Given the description of an element on the screen output the (x, y) to click on. 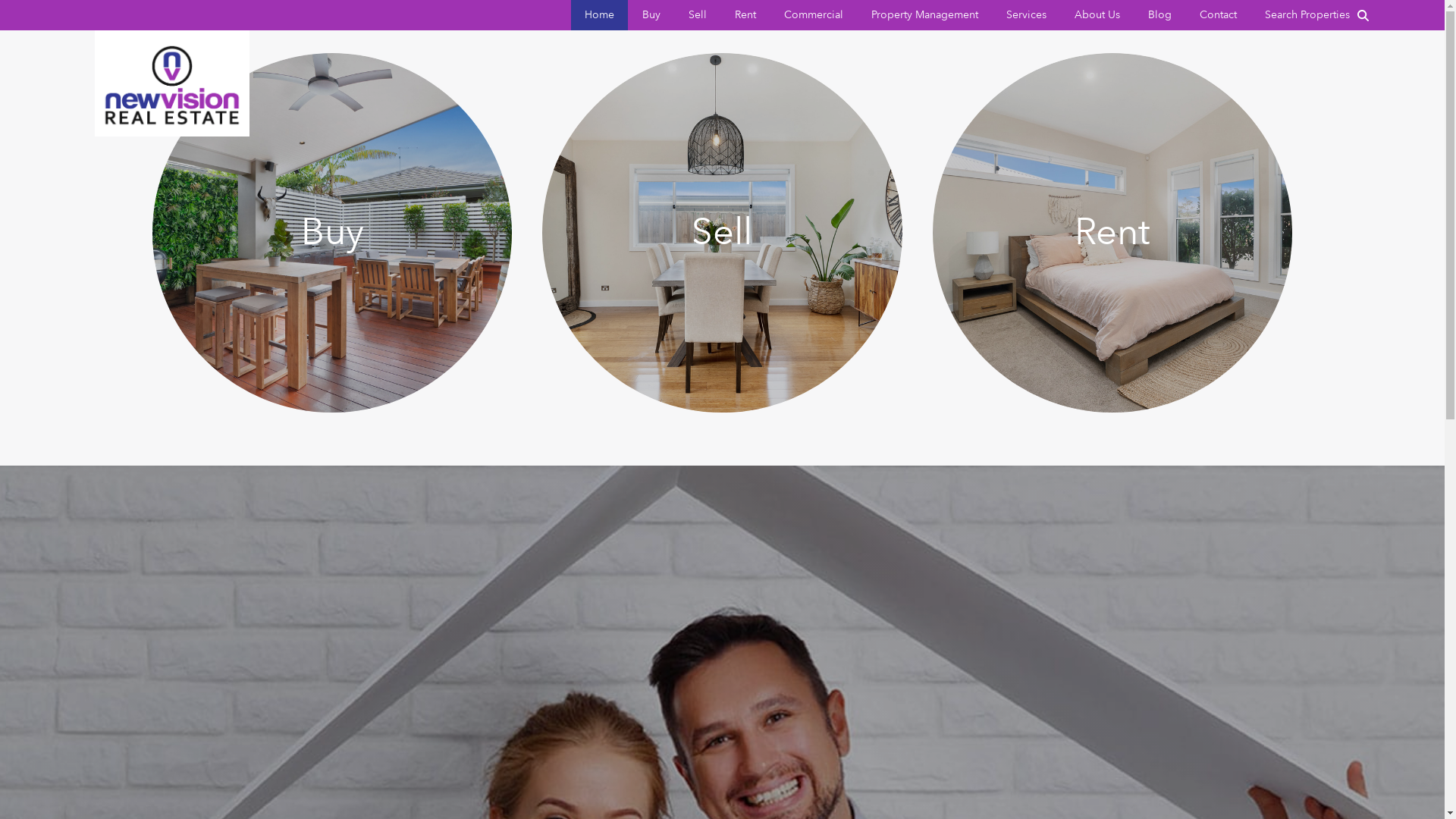
Search Properties Element type: text (1311, 15)
Buy Element type: text (331, 232)
Property Management Element type: text (924, 15)
Blog Element type: text (1159, 15)
Services Element type: text (1026, 15)
Contact Element type: text (1218, 15)
Sell Element type: text (697, 15)
Sell Element type: text (721, 232)
Commercial Element type: text (813, 15)
Buy Element type: text (651, 15)
Home Element type: text (599, 15)
Rent Element type: text (1112, 232)
Rent Element type: text (745, 15)
About Us Element type: text (1096, 15)
